Given the description of an element on the screen output the (x, y) to click on. 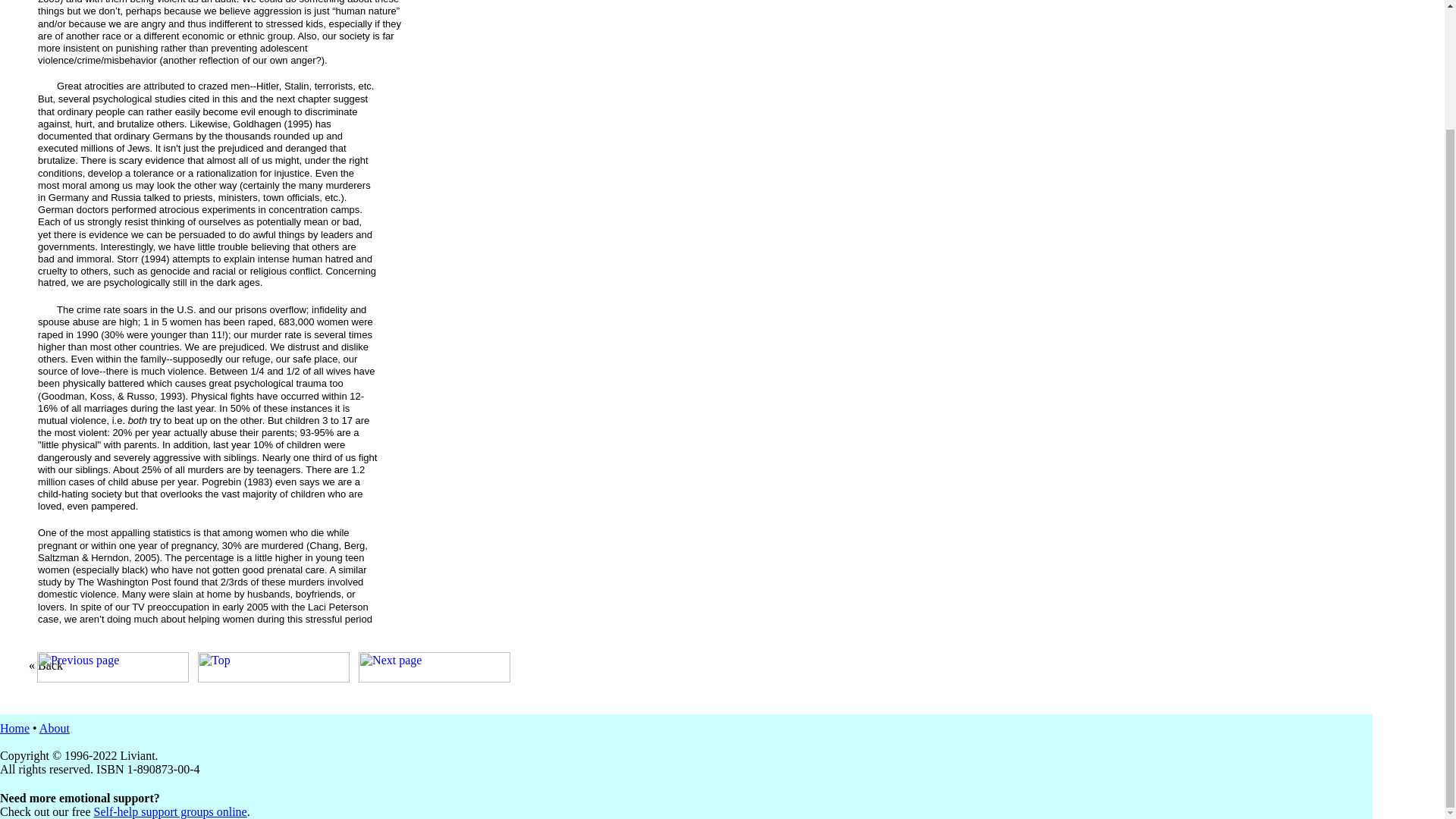
Home (14, 727)
Self-help support groups online (170, 811)
About (54, 727)
Back (49, 665)
